Given the description of an element on the screen output the (x, y) to click on. 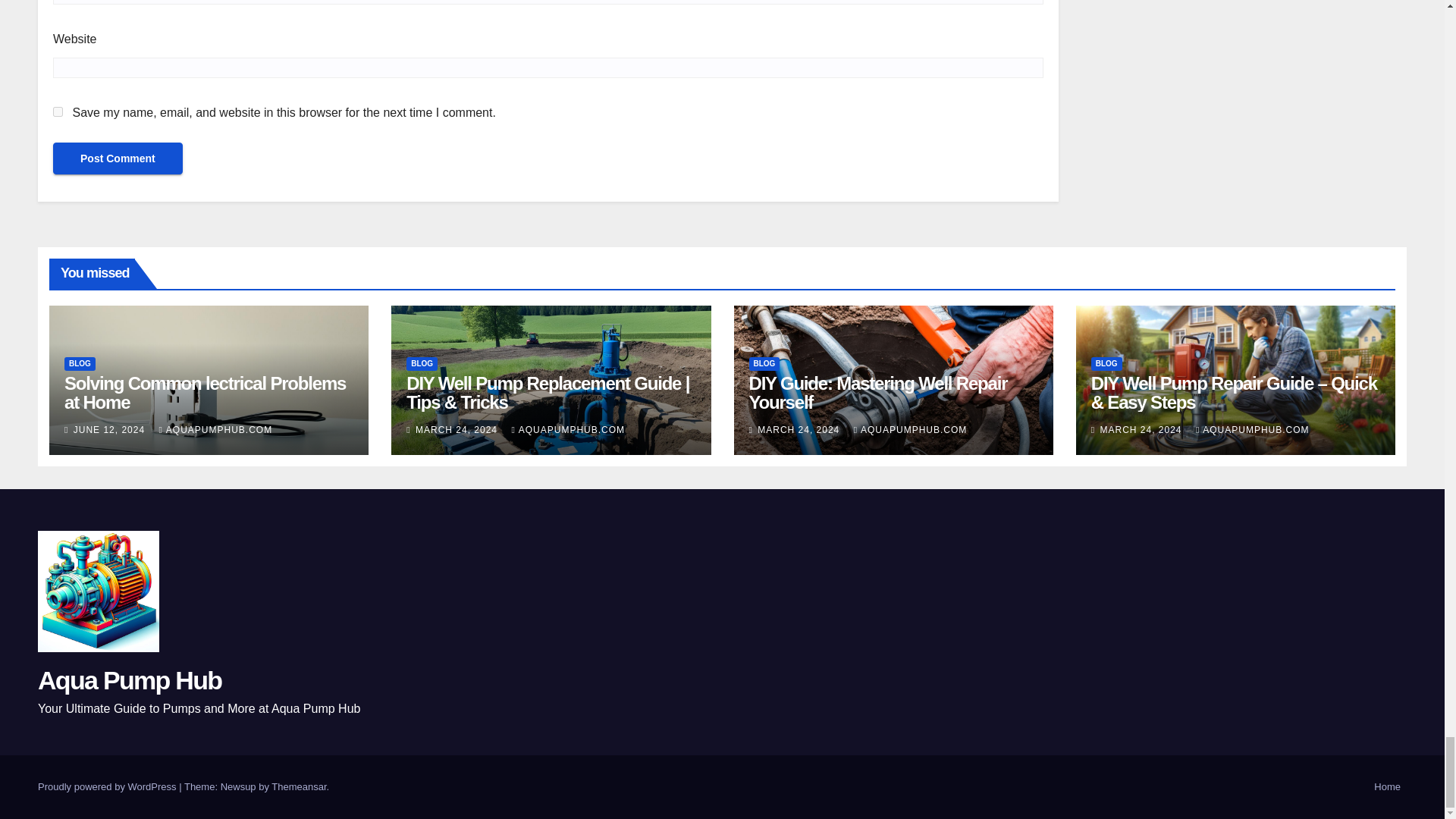
yes (57, 112)
Post Comment (117, 158)
